Given the description of an element on the screen output the (x, y) to click on. 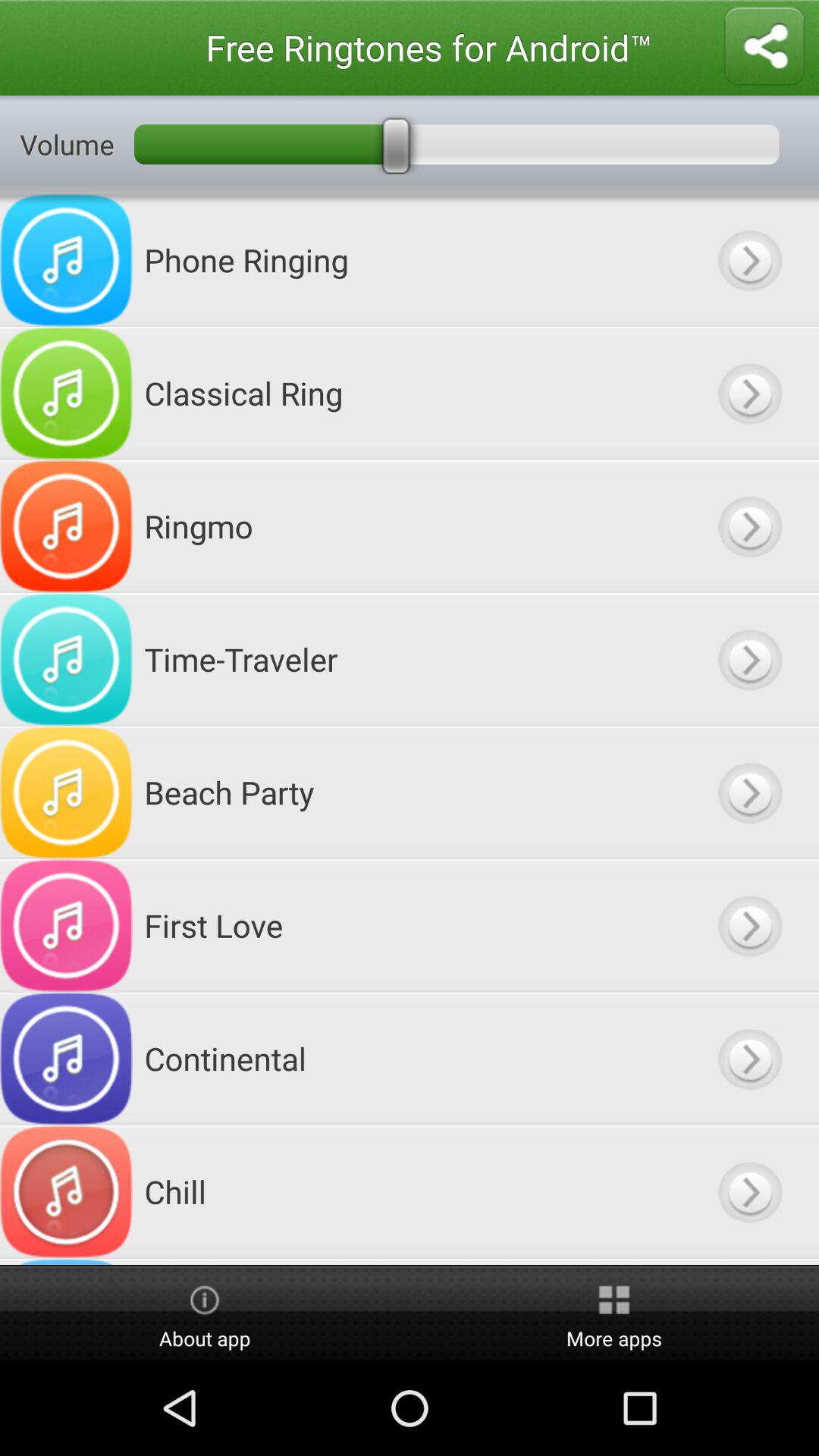
select ringtone ringmo (749, 526)
